Given the description of an element on the screen output the (x, y) to click on. 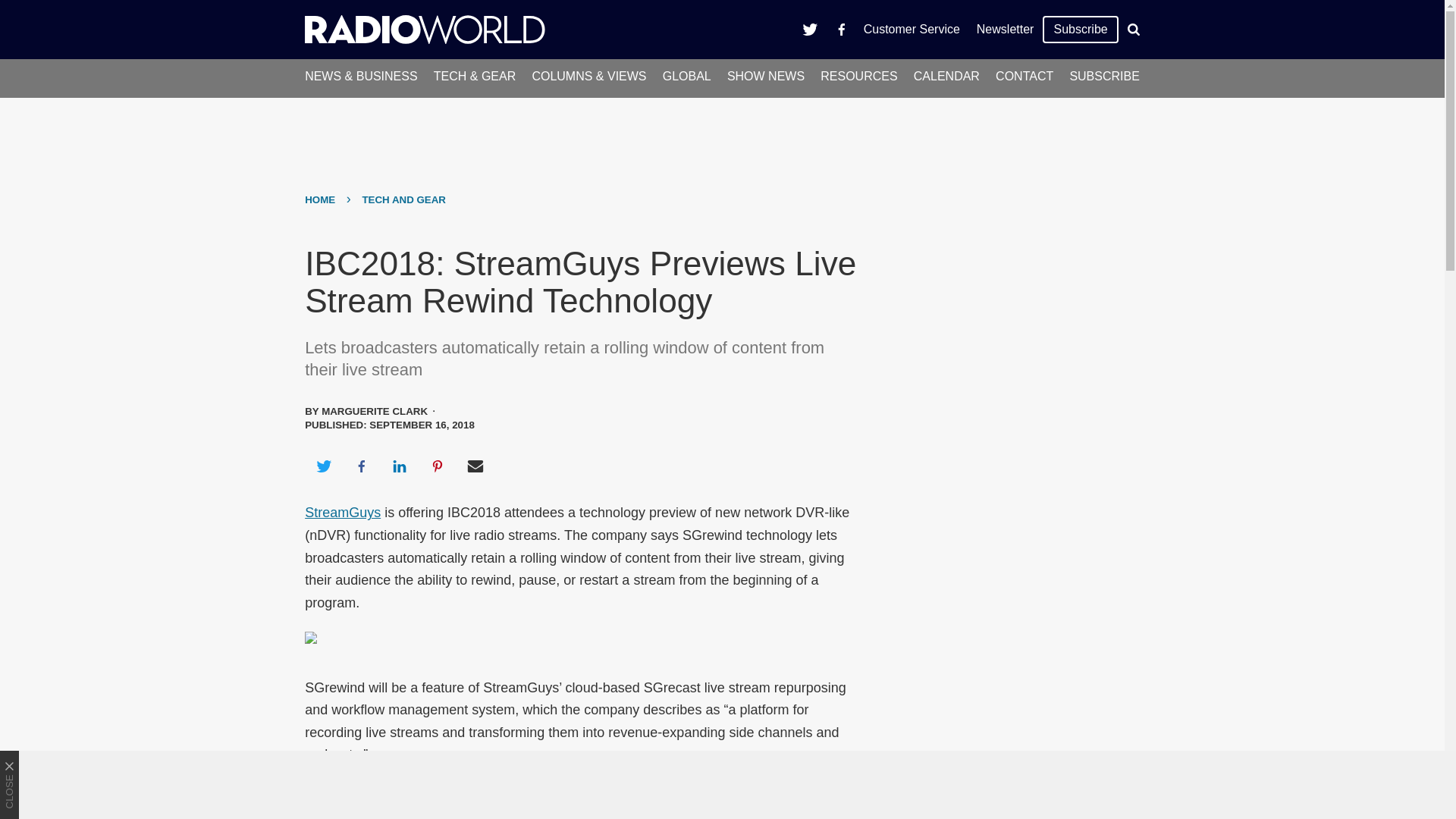
Share on Twitter (323, 466)
Share on LinkedIn (399, 466)
Share on Facebook (361, 466)
Share on Pinterest (438, 466)
Share via Email (476, 466)
Customer Service (912, 29)
